Given the description of an element on the screen output the (x, y) to click on. 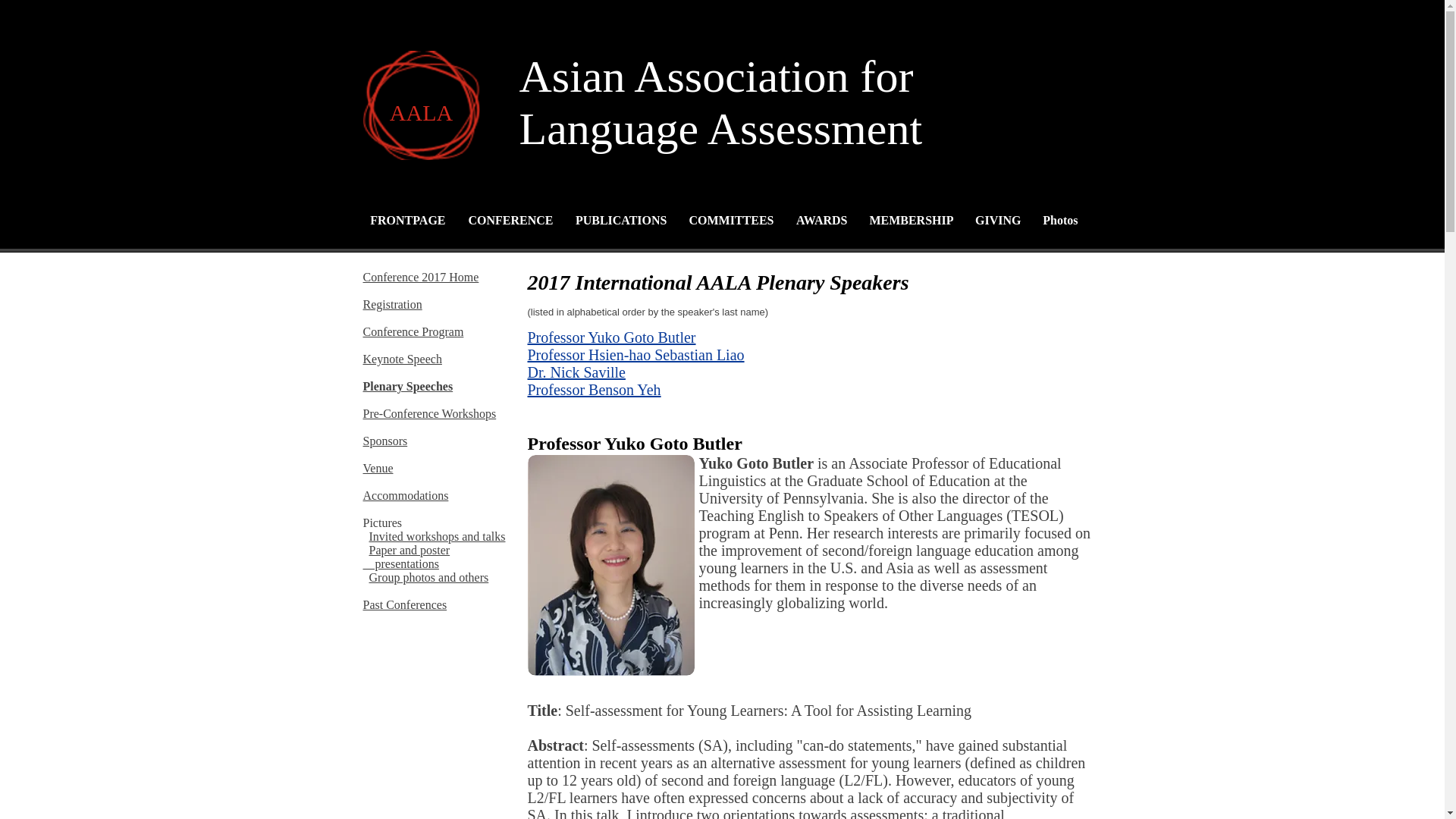
PUBLICATIONS (617, 219)
GIVING (994, 219)
Asian Association for Language Assessment (719, 102)
FRONTPAGE (405, 556)
Group photos and others (403, 219)
Registration (427, 576)
Photos (392, 304)
Plenary Speeches (1055, 219)
Accommodations (407, 386)
COMMITTEES (405, 495)
Sponsors (728, 219)
  AALA (384, 440)
Conference 2017 Home (415, 112)
Conference Program (420, 277)
